Given the description of an element on the screen output the (x, y) to click on. 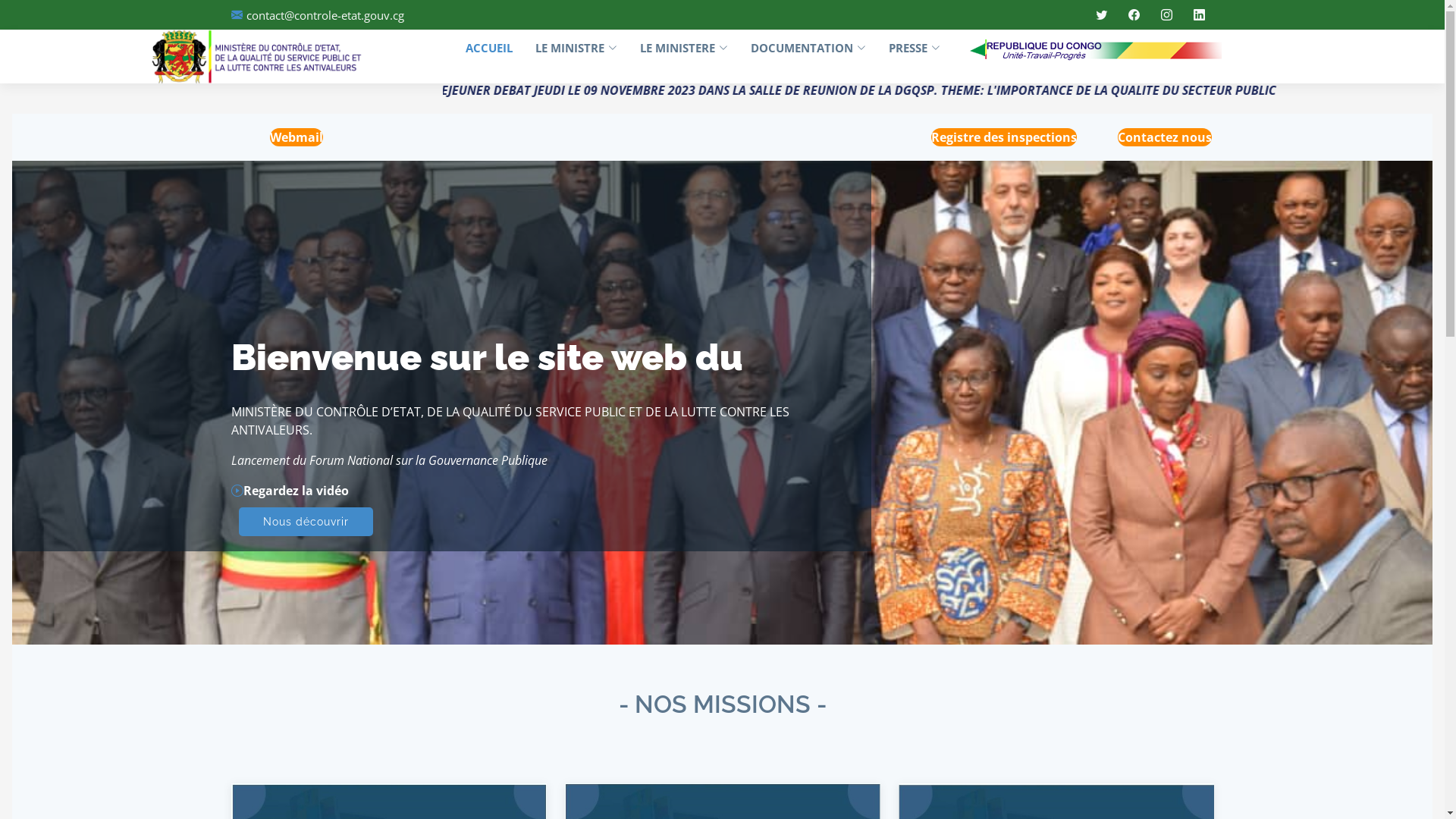
ACCUEIL Element type: text (477, 47)
LE MINISTRE Element type: text (564, 47)
Contactez nous Element type: text (1164, 137)
LE MINISTERE Element type: text (672, 47)
PRESSE Element type: text (903, 47)
Webmail Element type: text (296, 137)
DOCUMENTATION Element type: text (797, 47)
Registre des inspections Element type: text (1003, 137)
